Given the description of an element on the screen output the (x, y) to click on. 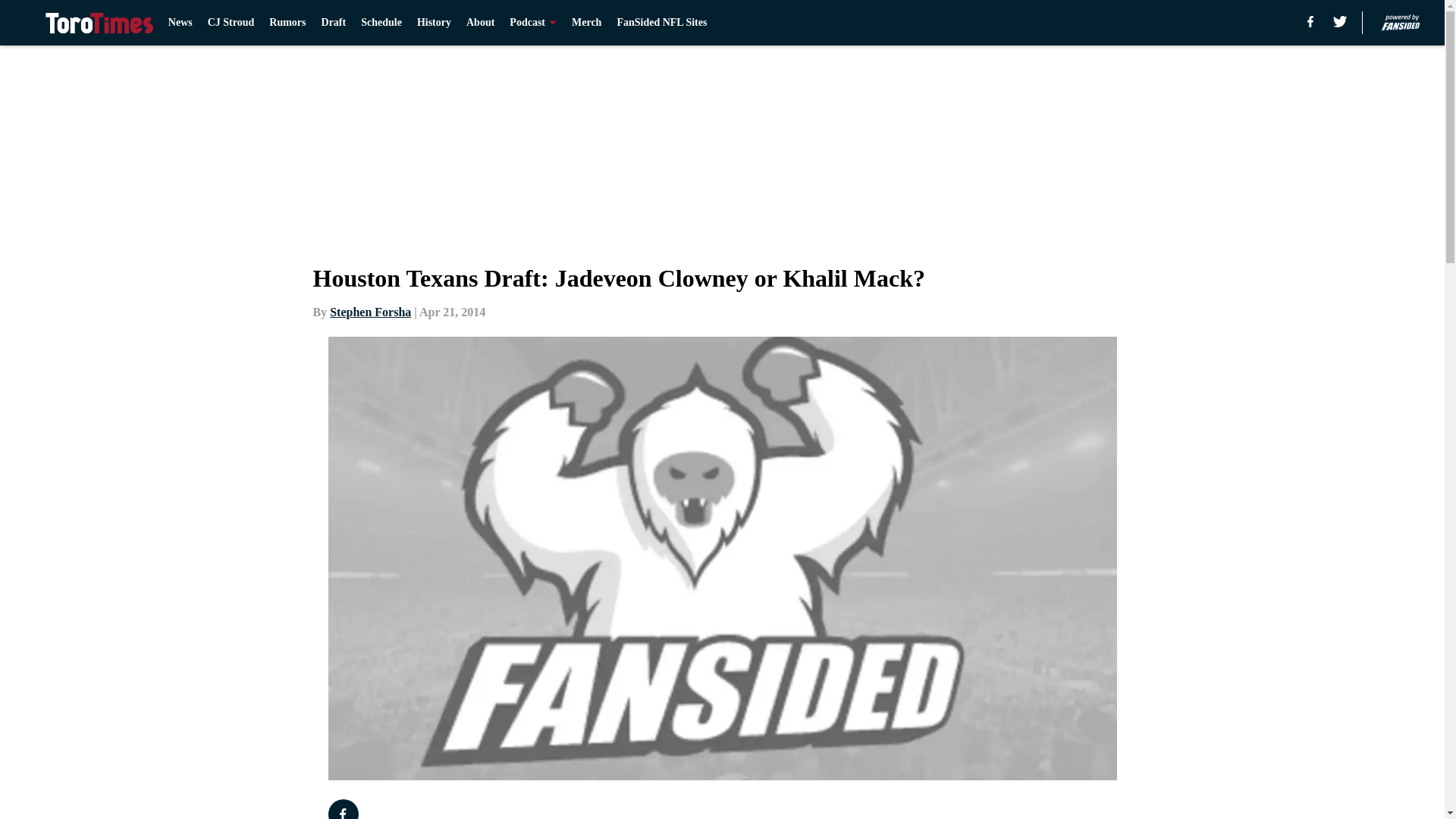
Stephen Forsha (370, 311)
FanSided NFL Sites (660, 22)
News (180, 22)
CJ Stroud (231, 22)
Draft (333, 22)
History (433, 22)
Merch (586, 22)
About (480, 22)
Schedule (381, 22)
Rumors (287, 22)
